Given the description of an element on the screen output the (x, y) to click on. 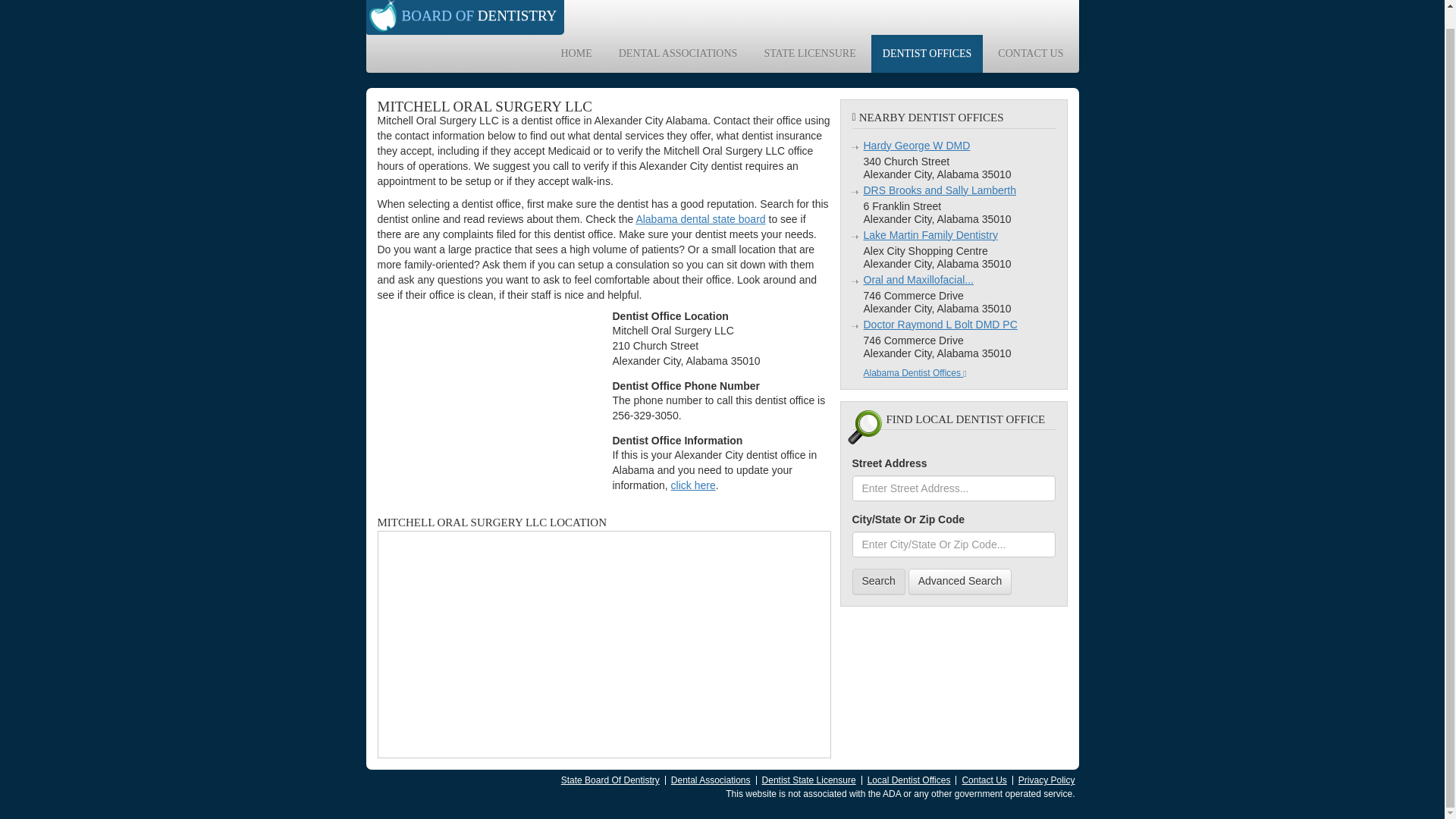
Dentist State Licensure (808, 779)
CONTACT US (1030, 53)
Alabama dental state board (699, 218)
STATE LICENSURE (809, 53)
Contact Us (983, 779)
Doctor Raymond L Bolt DMD PC Dentist Office (939, 324)
Hardy George W DMD Dentist Office (916, 145)
DENTIST OFFICES (927, 53)
Search (878, 581)
Lake Martin Family Dentistry (930, 234)
Alabama Dentist Offices (914, 371)
Local Dentist Offices (908, 779)
DRS Brooks and Sally Lamberth Dentist Office (939, 189)
Hardy George W DMD (916, 145)
Advanced Search (959, 581)
